Given the description of an element on the screen output the (x, y) to click on. 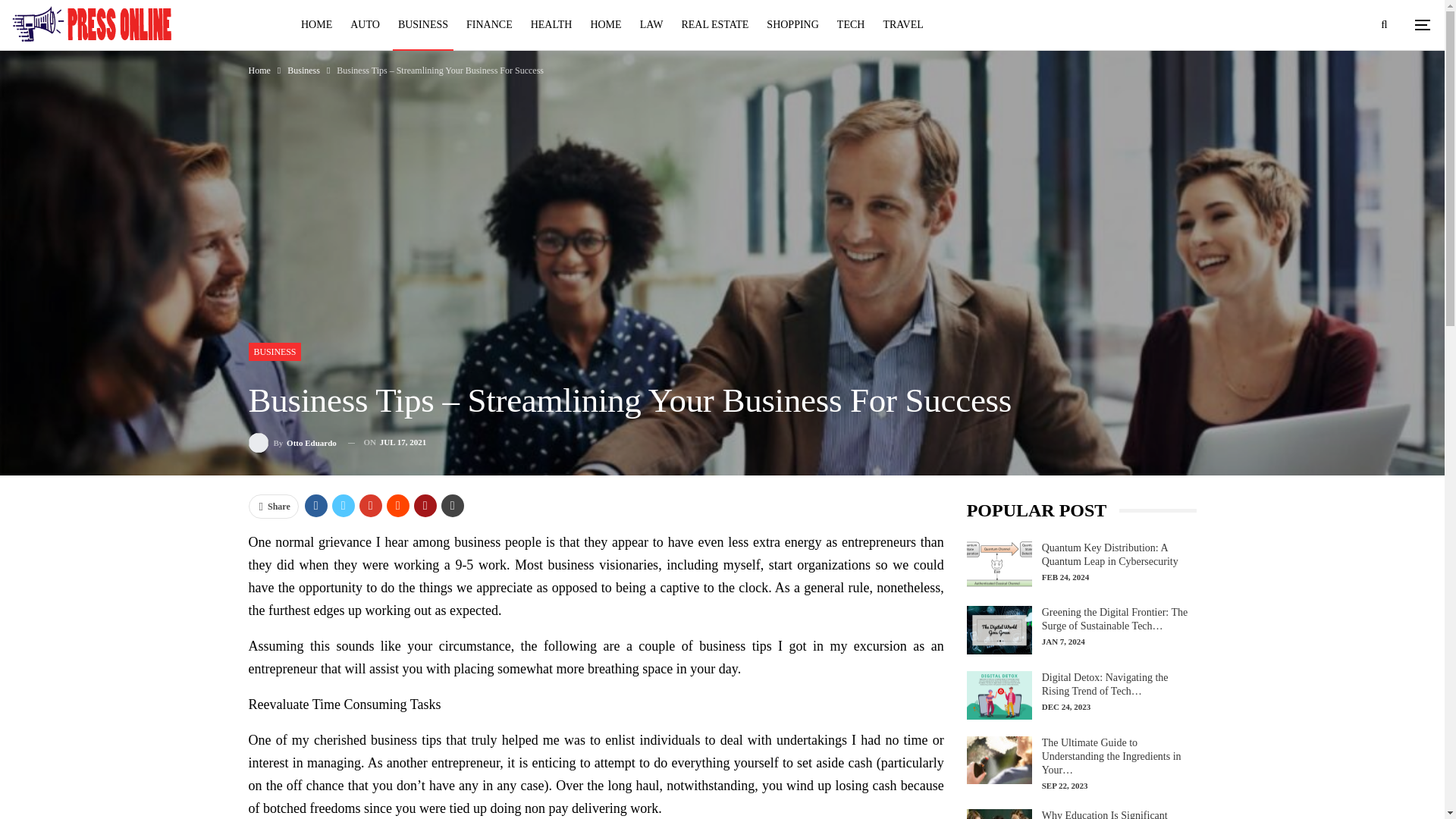
Quantum Key Distribution: A Quantum Leap in Cybersecurity (999, 565)
Home (259, 70)
Business (303, 70)
SHOPPING (792, 24)
Why Education Is Significant (999, 814)
TRAVEL (902, 24)
REAL ESTATE (714, 24)
